Given the description of an element on the screen output the (x, y) to click on. 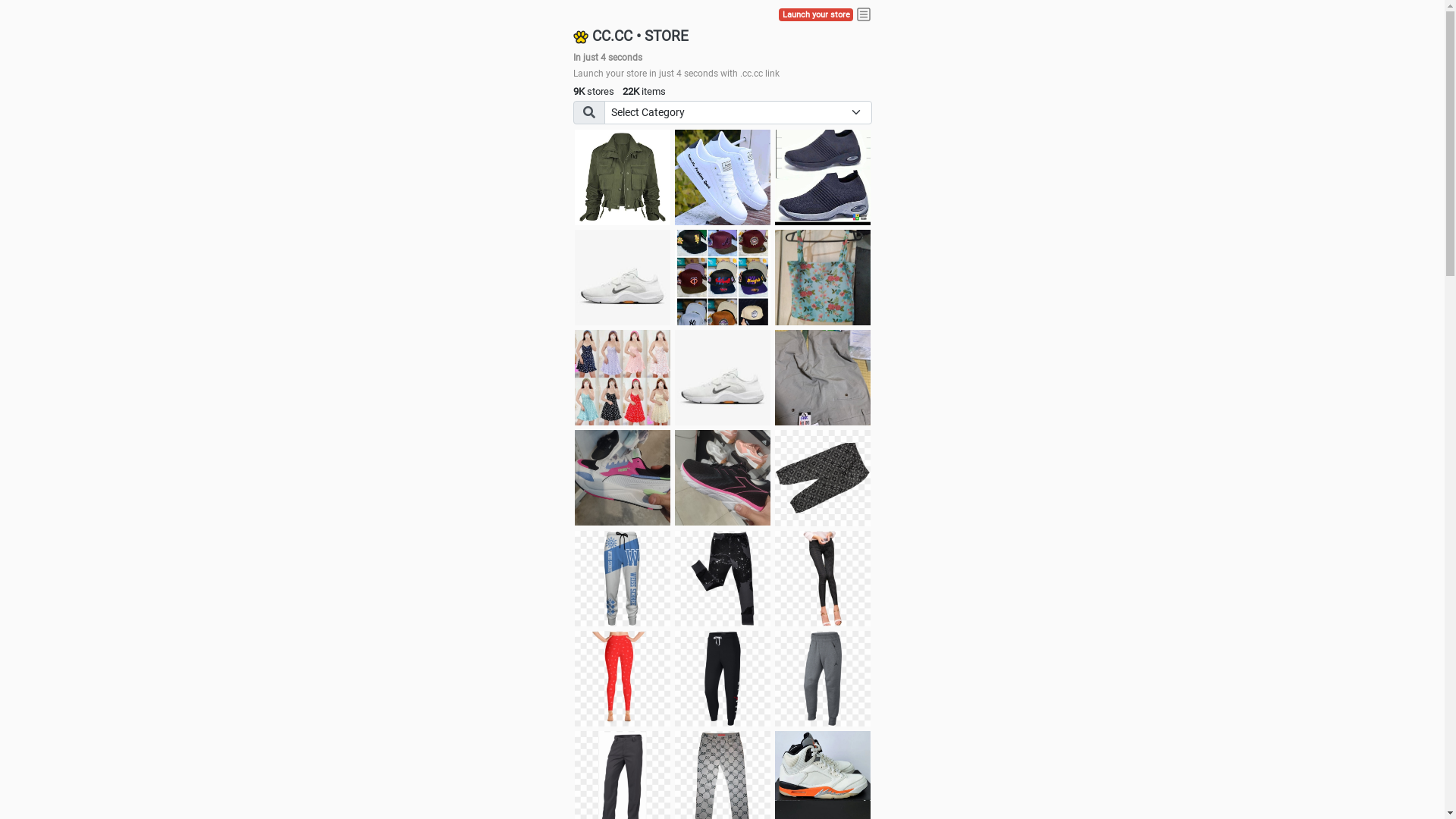
Things we need Element type: hover (722, 277)
Zapatillas pumas Element type: hover (622, 477)
jacket Element type: hover (622, 177)
Launch your store Element type: text (815, 14)
Zapatillas Element type: hover (722, 477)
Shoes for boys Element type: hover (622, 277)
white shoes Element type: hover (722, 177)
Pant Element type: hover (622, 678)
Shoes Element type: hover (722, 377)
Short pant Element type: hover (822, 477)
Pant Element type: hover (822, 578)
Ukay cloth Element type: hover (822, 277)
shoes for boys Element type: hover (822, 177)
Pant Element type: hover (722, 678)
Dress/square nect top Element type: hover (622, 377)
Pant Element type: hover (622, 578)
Pant Element type: hover (722, 578)
Pant Element type: hover (822, 678)
